Given the description of an element on the screen output the (x, y) to click on. 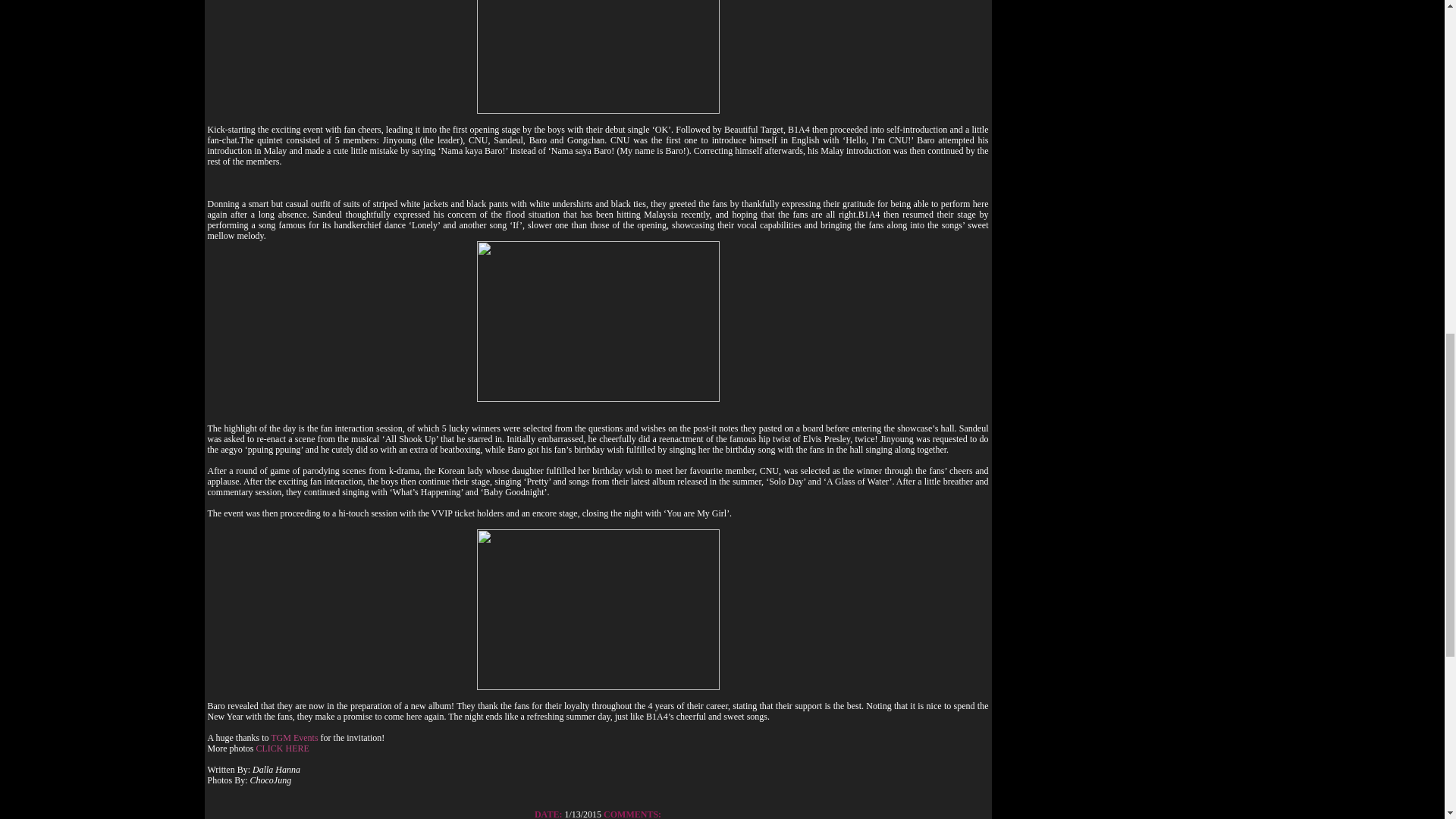
CLICK HERE (282, 747)
TGM Events (293, 737)
